Given the description of an element on the screen output the (x, y) to click on. 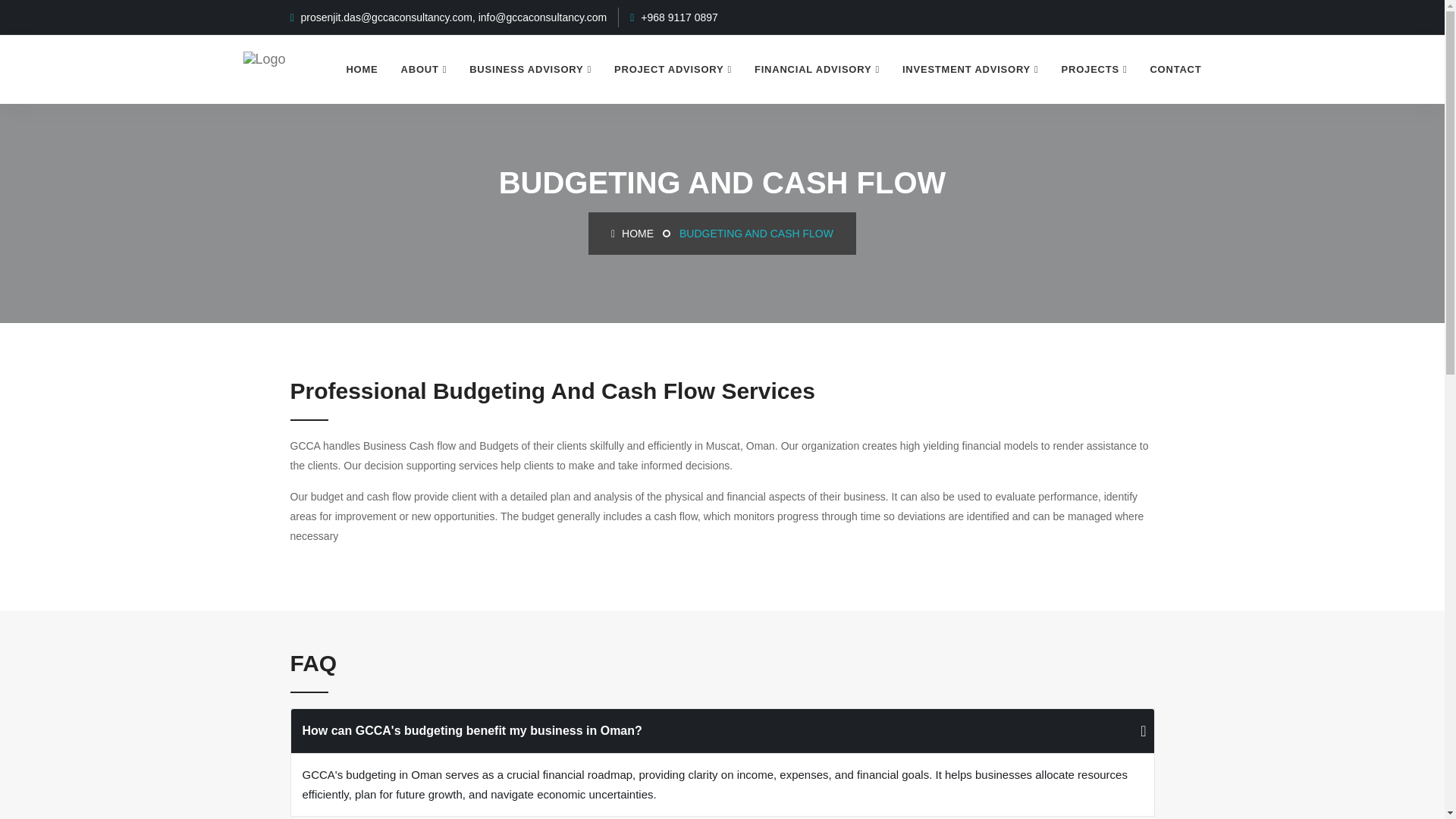
FINANCIAL ADVISORY (816, 70)
INVESTMENT ADVISORY (970, 70)
PROJECTS (1093, 70)
BUSINESS ADVISORY (530, 70)
PROJECT ADVISORY (672, 70)
ABOUT (424, 70)
